Given the description of an element on the screen output the (x, y) to click on. 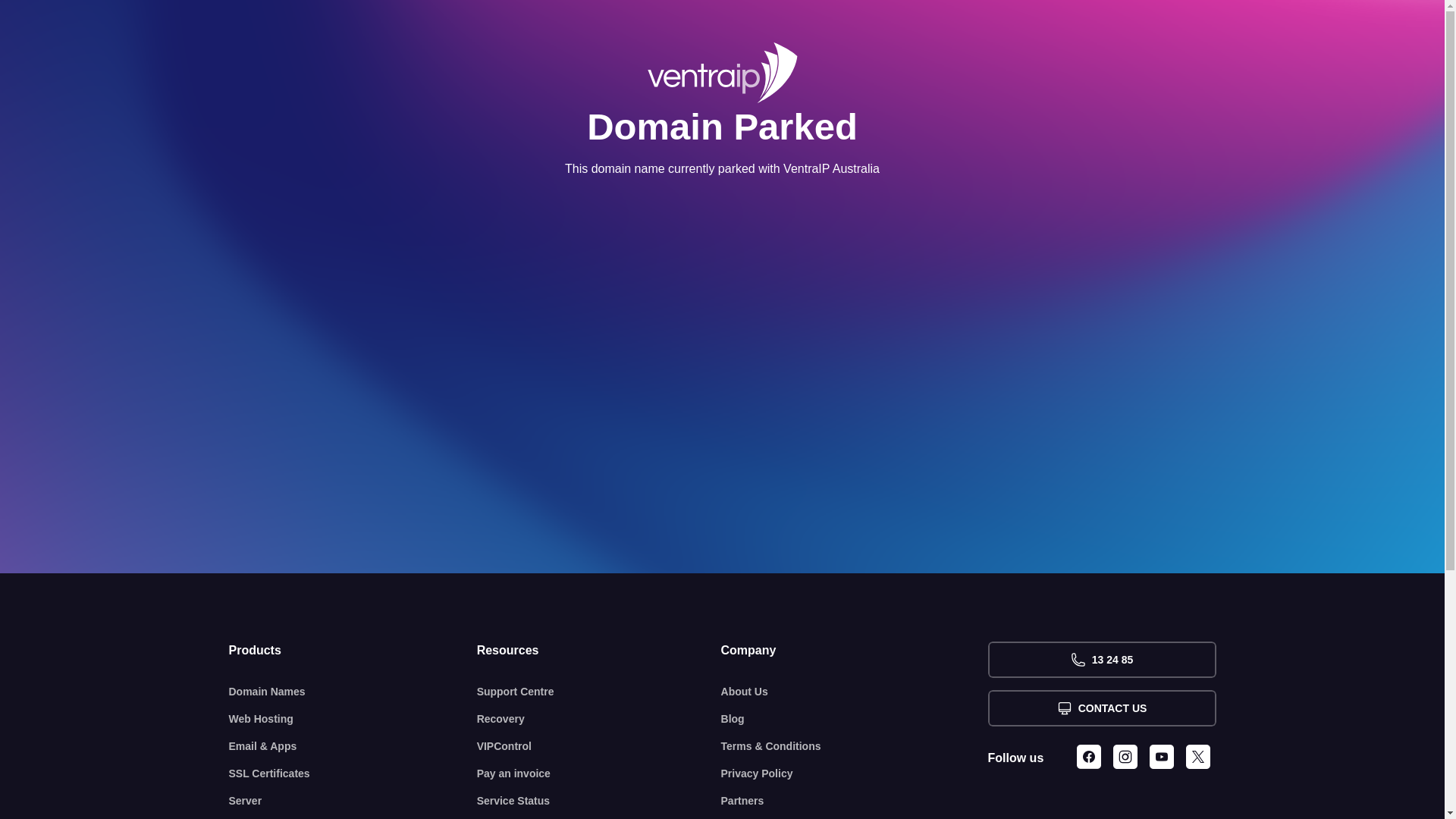
Privacy Policy Element type: text (854, 773)
Terms & Conditions Element type: text (854, 745)
VIPControl Element type: text (598, 745)
Partners Element type: text (854, 800)
Domain Names Element type: text (352, 691)
Service Status Element type: text (598, 800)
Email & Apps Element type: text (352, 745)
Server Element type: text (352, 800)
Blog Element type: text (854, 718)
Recovery Element type: text (598, 718)
Web Hosting Element type: text (352, 718)
About Us Element type: text (854, 691)
13 24 85 Element type: text (1101, 659)
Pay an invoice Element type: text (598, 773)
Support Centre Element type: text (598, 691)
SSL Certificates Element type: text (352, 773)
CONTACT US Element type: text (1101, 708)
